Given the description of an element on the screen output the (x, y) to click on. 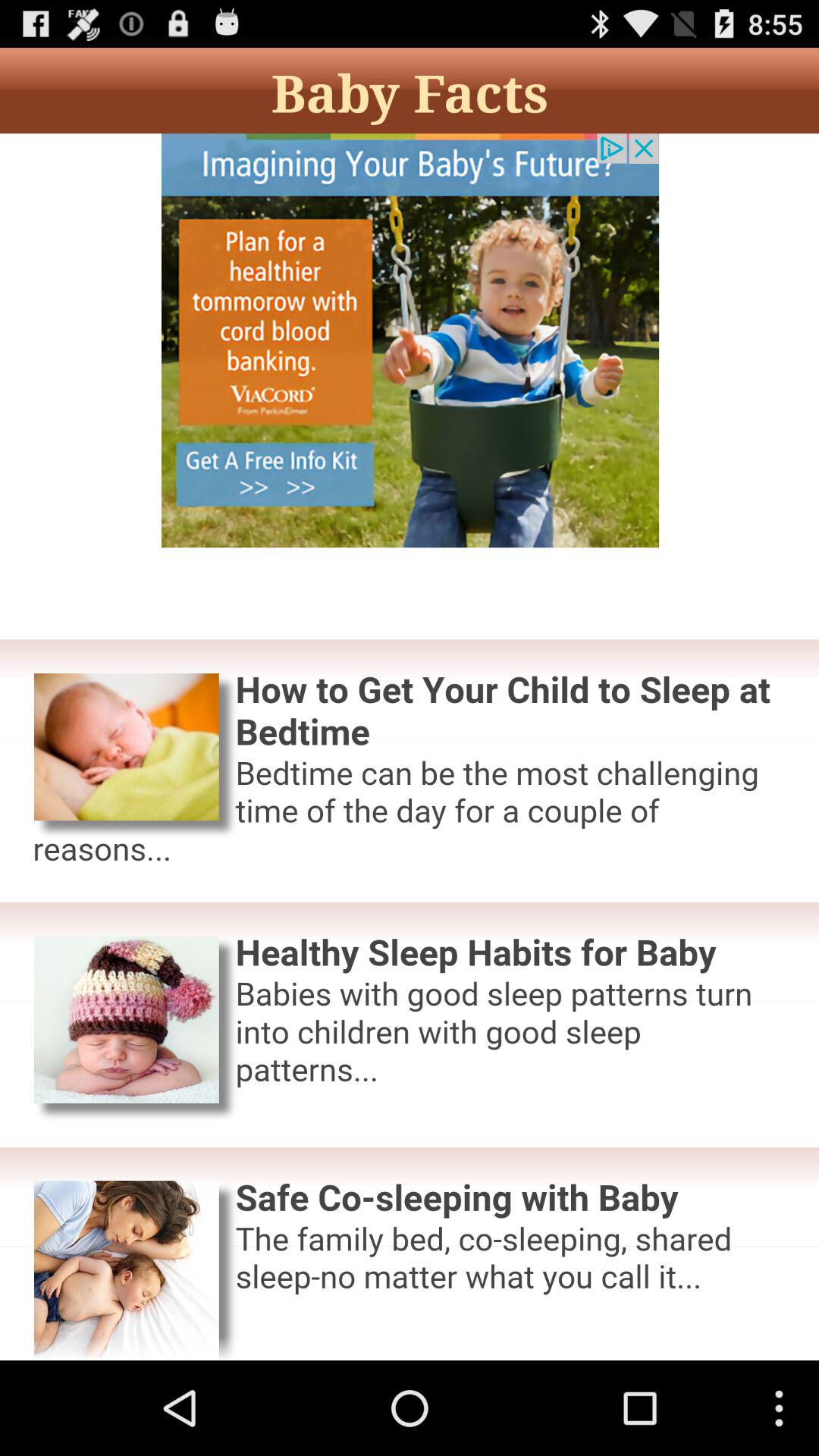
advertisement area (409, 746)
